Given the description of an element on the screen output the (x, y) to click on. 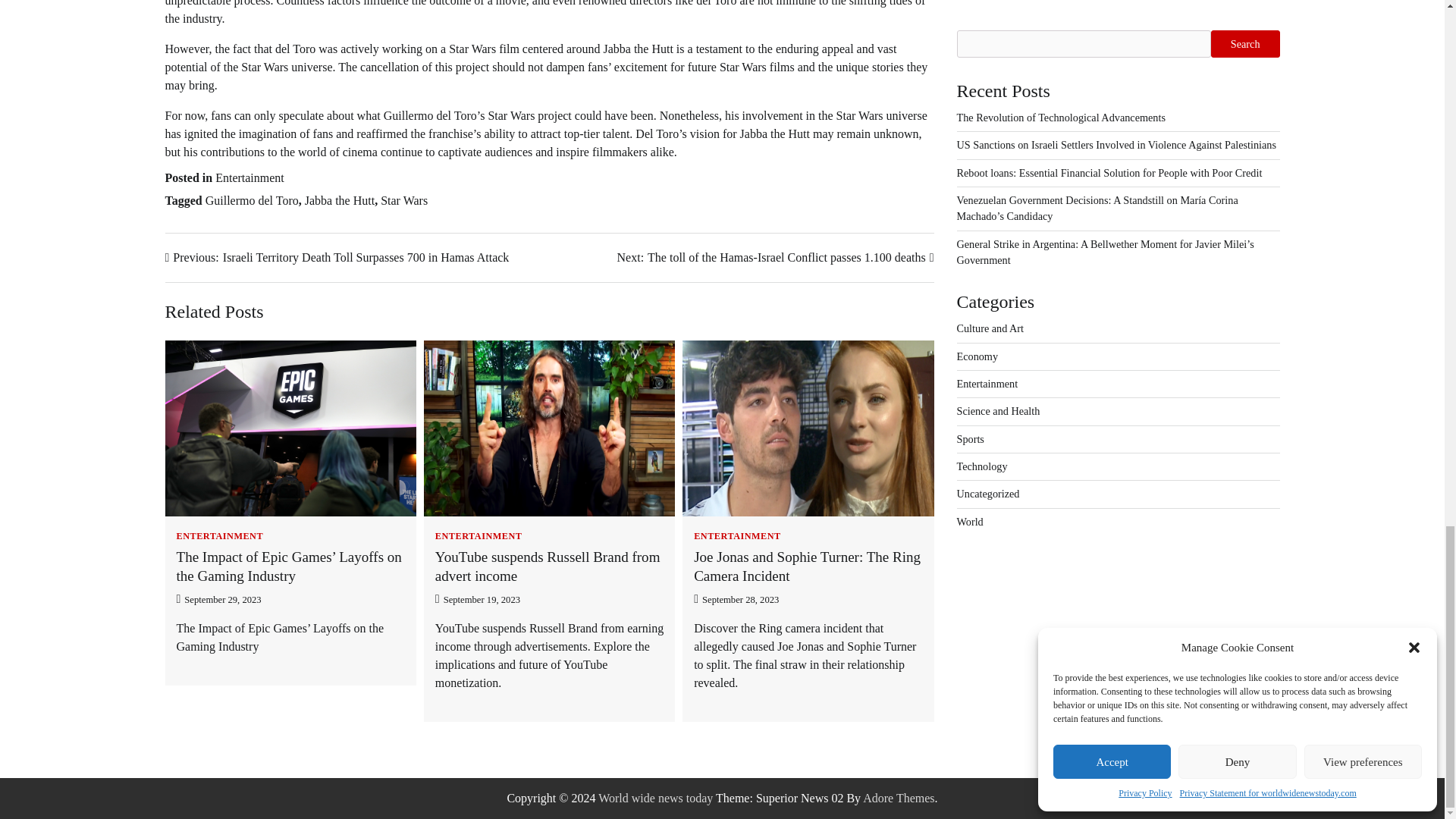
Entertainment (249, 177)
ENTERTAINMENT (737, 535)
ENTERTAINMENT (219, 535)
ENTERTAINMENT (478, 535)
Star Wars (404, 200)
Guillermo del Toro (251, 200)
YouTube suspends Russell Brand from advert income (548, 565)
Jabba the Hutt (339, 200)
